Given the description of an element on the screen output the (x, y) to click on. 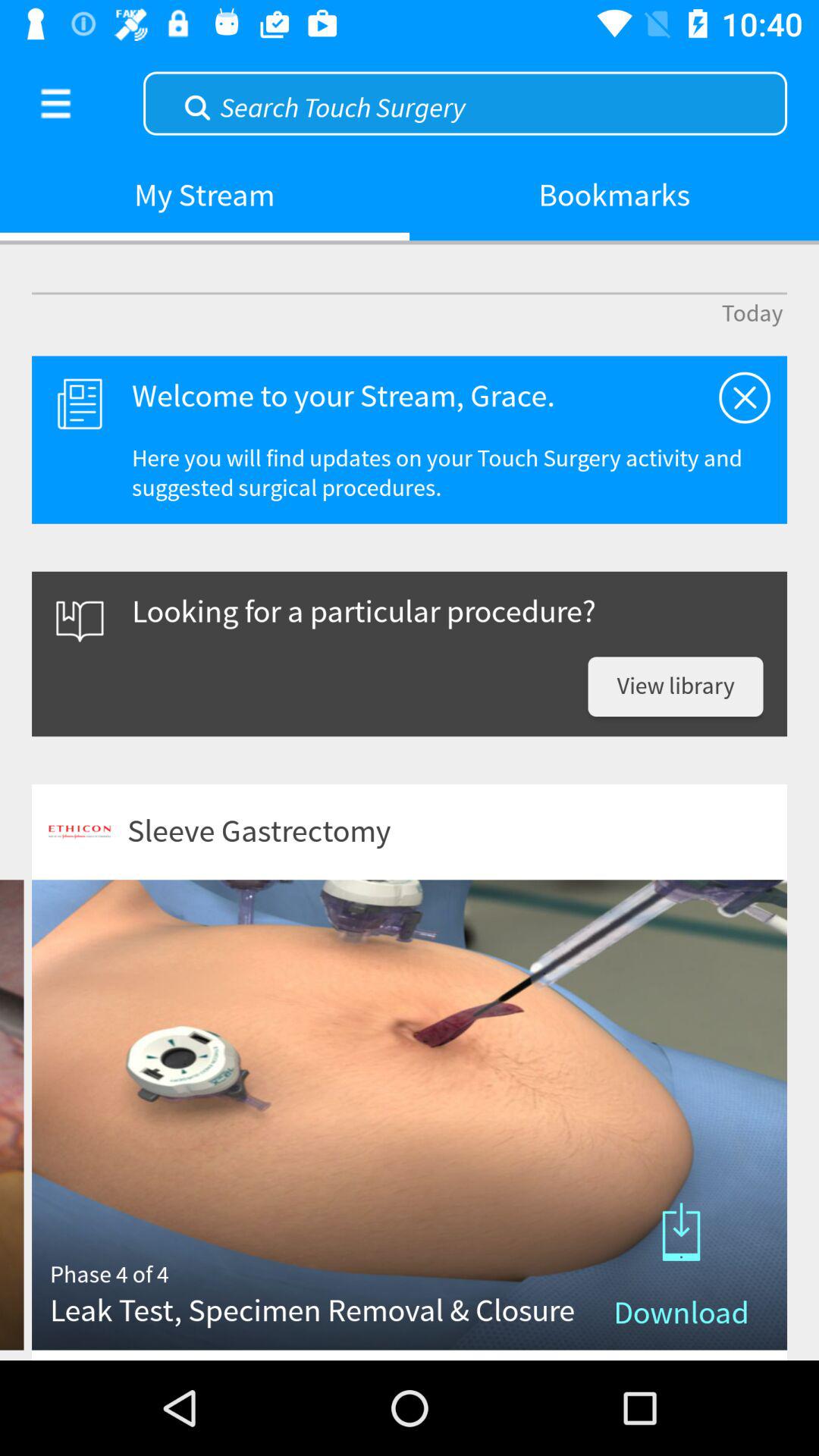
press the item above my stream icon (55, 103)
